Given the description of an element on the screen output the (x, y) to click on. 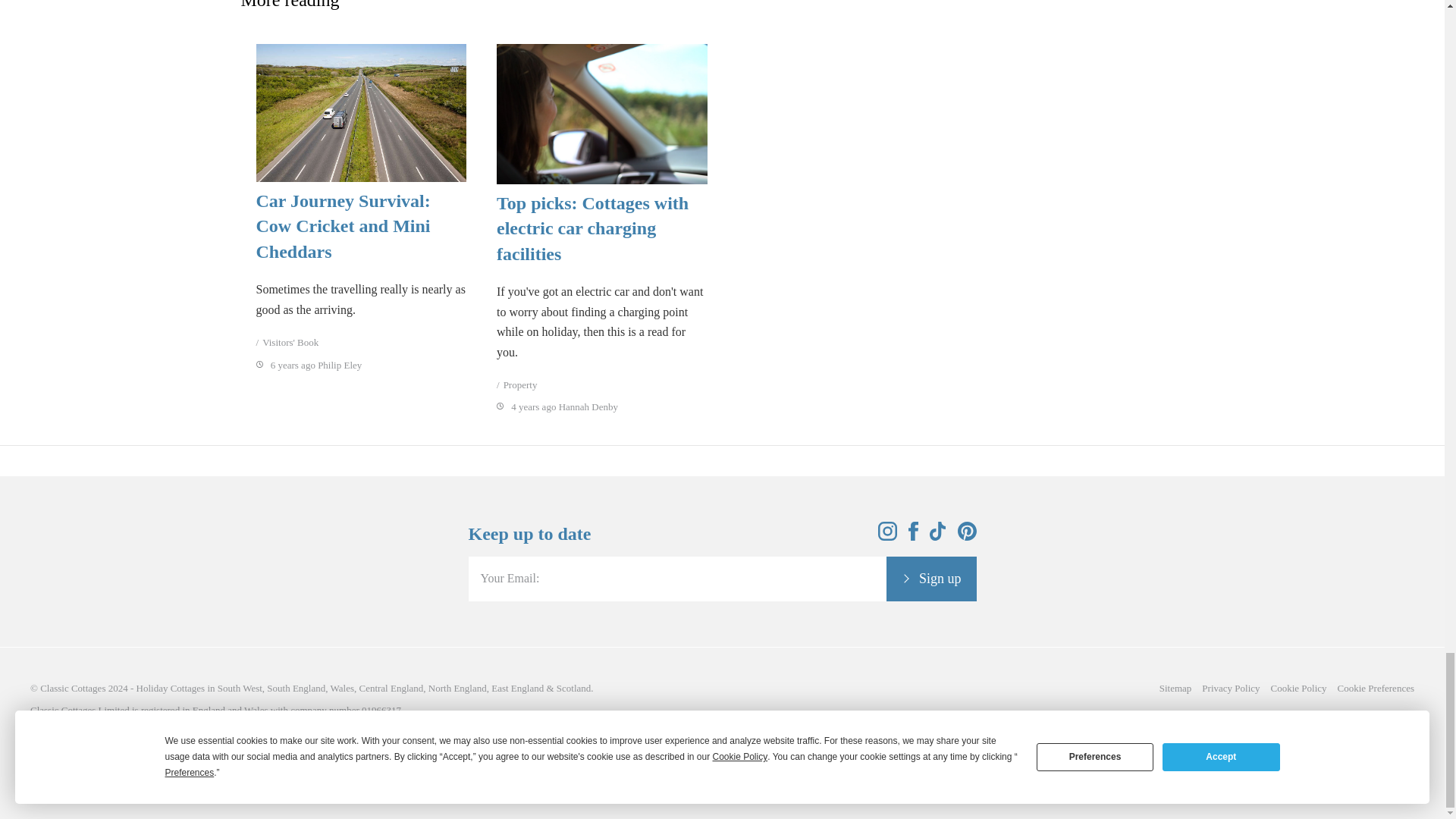
Follow Classic Cottages Tik Tok (938, 535)
Follow Classic Cottages Instagram (886, 535)
Follow Classic Cottages Pinterest (965, 535)
